Given the description of an element on the screen output the (x, y) to click on. 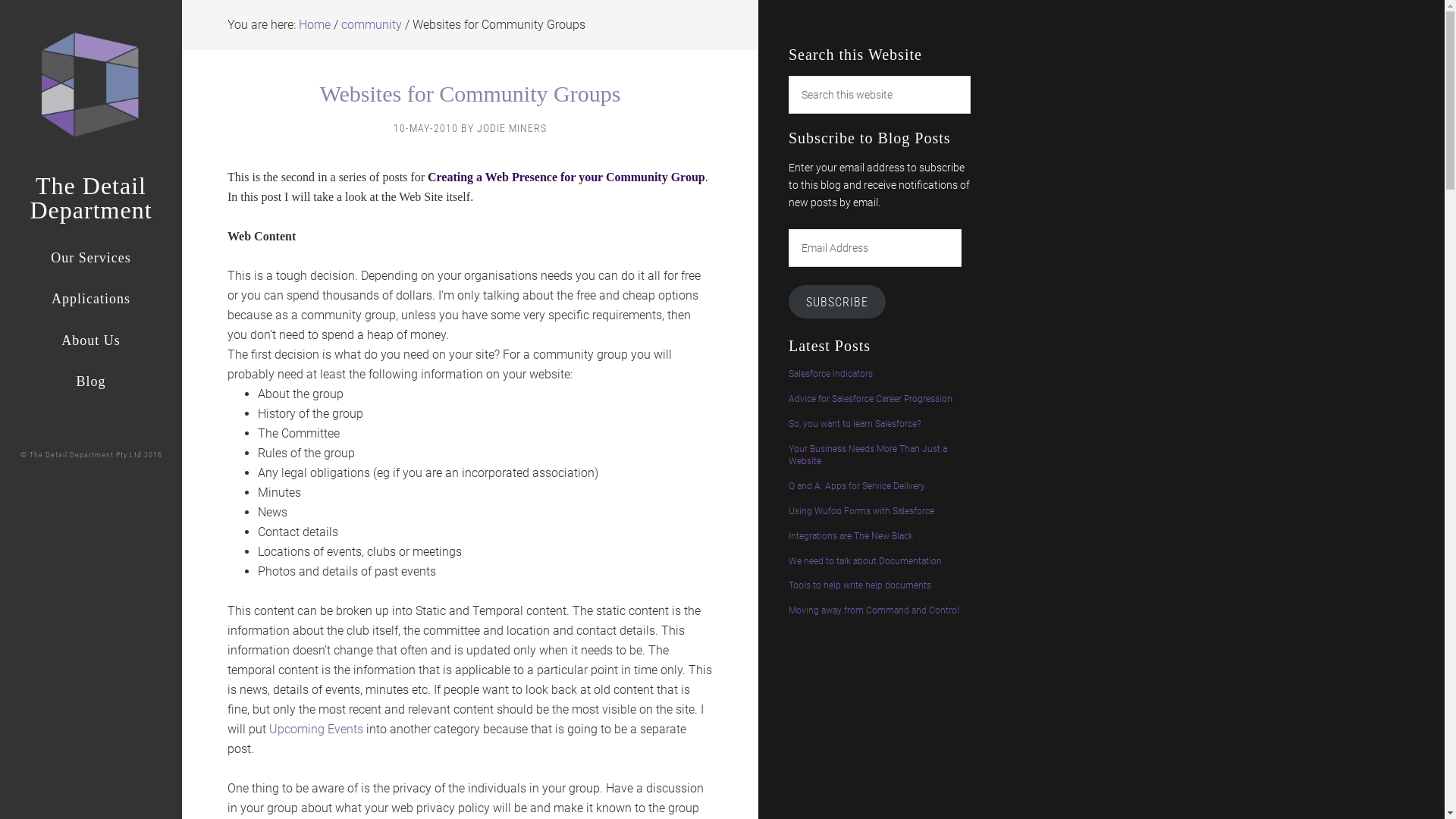
Your Business Needs More Than Just a Website Element type: text (867, 455)
community Element type: text (371, 24)
Upcoming Events Element type: text (316, 728)
So, you want to learn Salesforce? Element type: text (854, 423)
We need to talk about Documentation Element type: text (864, 560)
Tools to help write help documents Element type: text (859, 585)
Advice for Salesforce Career Progression Element type: text (870, 398)
Moving away from Command and Control Element type: text (873, 610)
The Detail Department Element type: text (90, 197)
SUBSCRIBE Element type: text (836, 301)
Blog Element type: text (91, 381)
About Us Element type: text (91, 340)
Salesforce Indicators Element type: text (830, 373)
Integrations are The New Black Element type: text (850, 535)
JODIE MINERS Element type: text (511, 128)
Q and A: Apps for Service Delivery Element type: text (856, 485)
Search Element type: text (969, 75)
Home Element type: text (314, 24)
Applications Element type: text (91, 299)
Creating a Web Presence for your Community Group Element type: text (566, 176)
Using Wufoo Forms with Salesforce Element type: text (861, 510)
The Detail Department Pty Ltd 2016 Element type: text (94, 454)
Our Services Element type: text (91, 258)
